Given the description of an element on the screen output the (x, y) to click on. 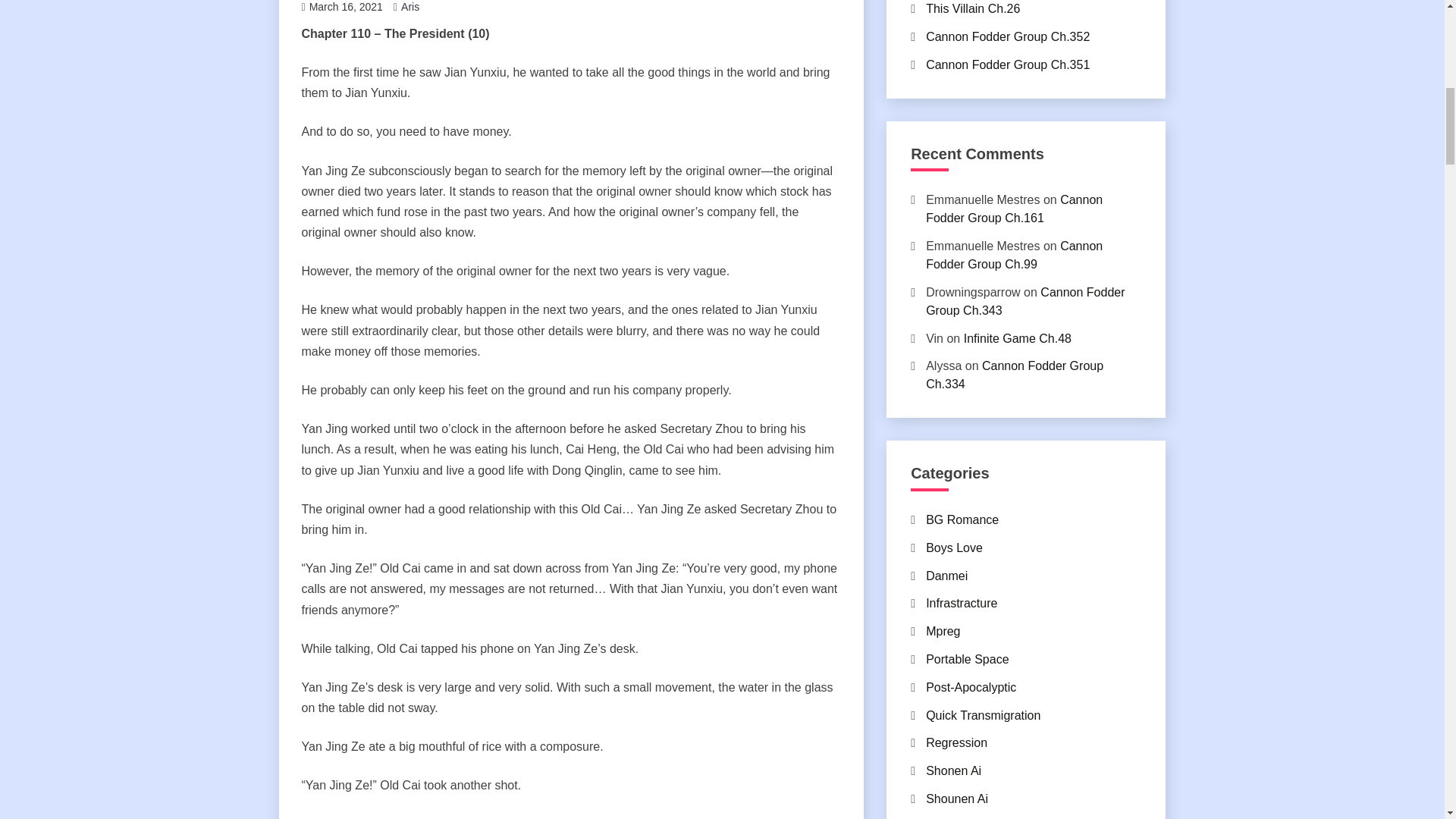
Aris (410, 6)
March 16, 2021 (345, 6)
